Given the description of an element on the screen output the (x, y) to click on. 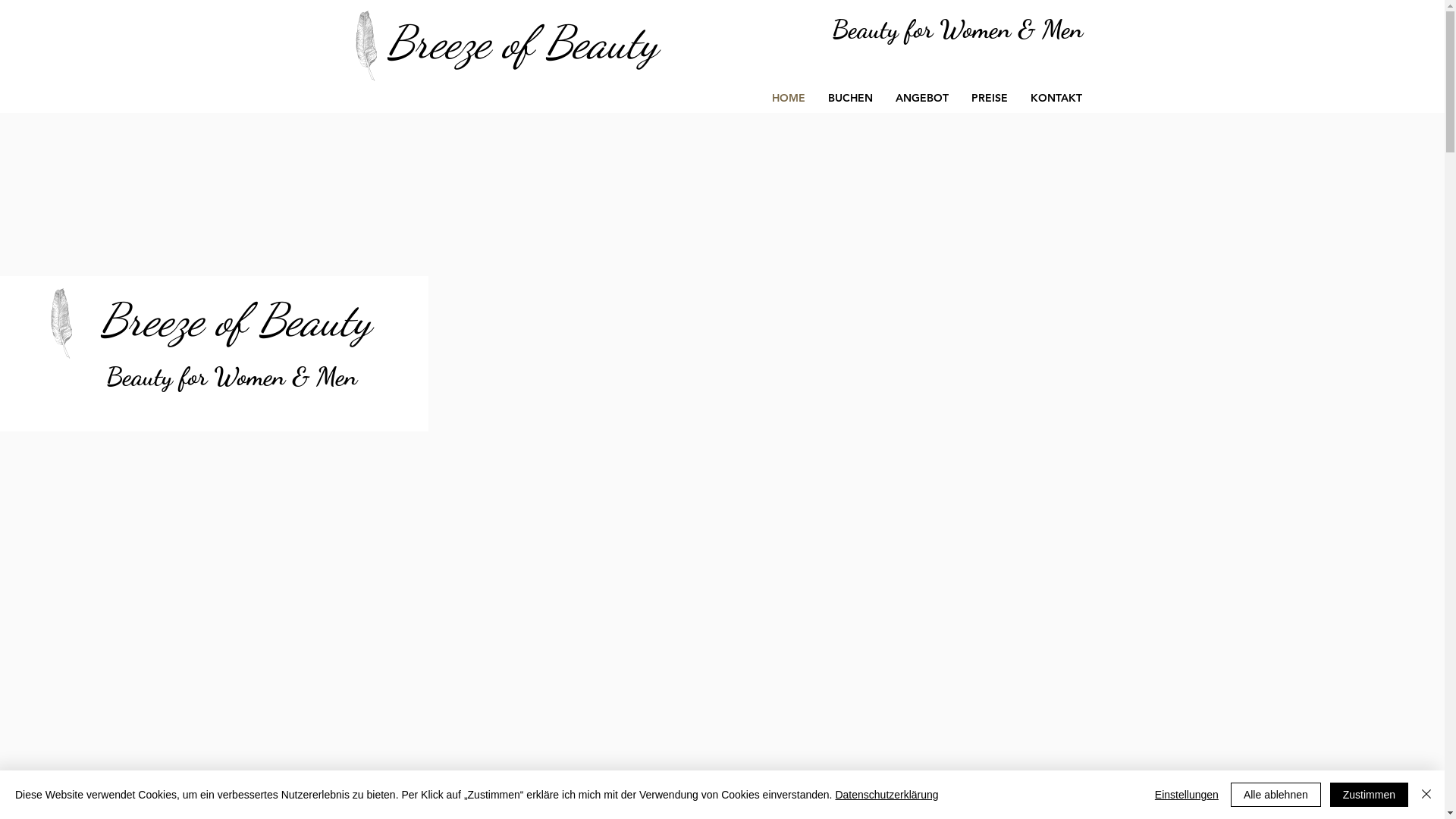
KONTAKT Element type: text (1056, 98)
Alle ablehnen Element type: text (1275, 794)
Zustimmen Element type: text (1369, 794)
PREISE Element type: text (989, 98)
HOME Element type: text (787, 98)
ANGEBOT Element type: text (922, 98)
BUCHEN Element type: text (849, 98)
